Given the description of an element on the screen output the (x, y) to click on. 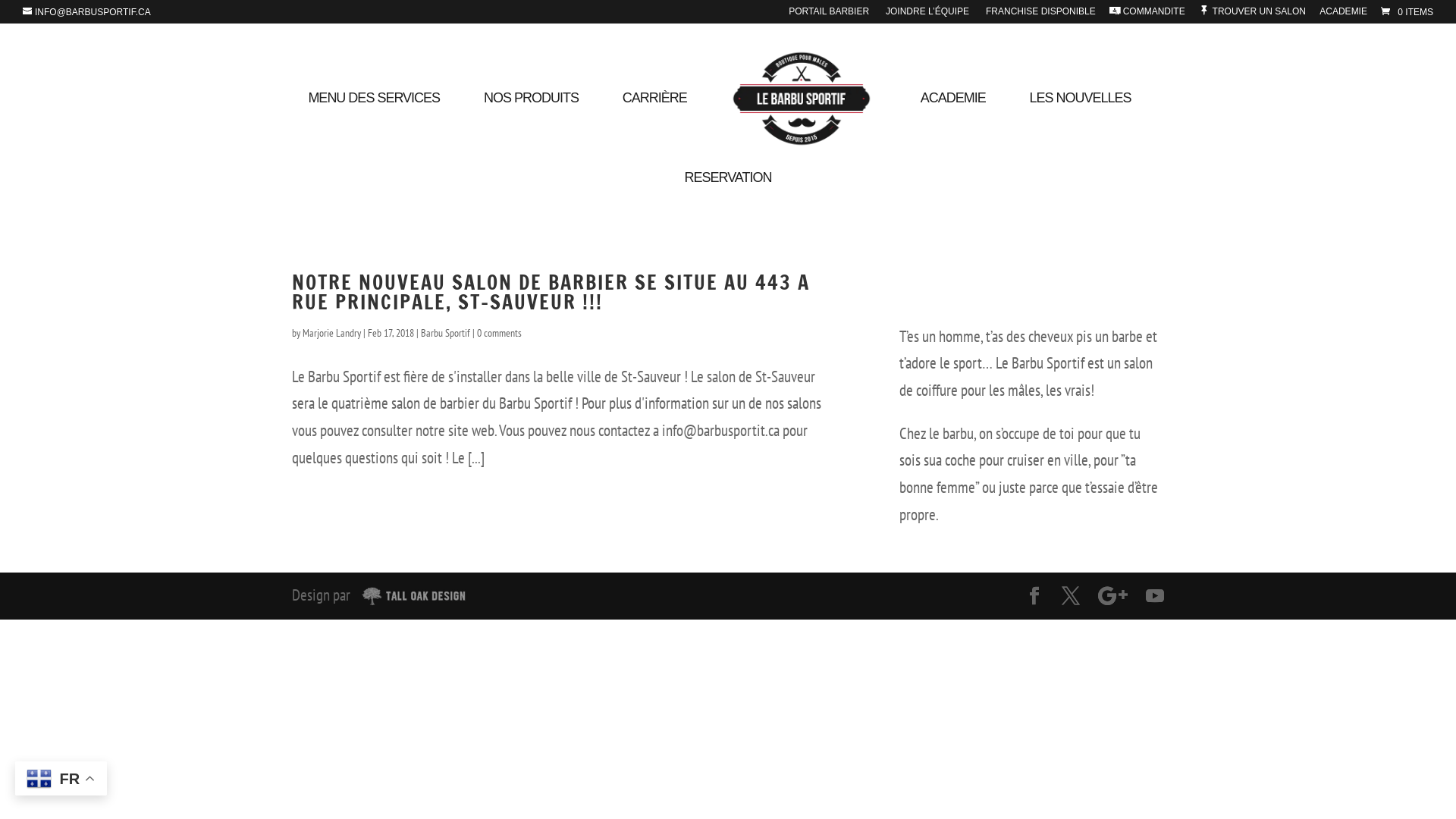
ACADEMIE Element type: text (953, 109)
TROUVER UN SALON Element type: text (1251, 14)
LES NOUVELLES Element type: text (1080, 109)
0 comments Element type: text (498, 332)
MENU DES SERVICES Element type: text (373, 109)
ACADEMIE Element type: text (1343, 14)
NOS PRODUITS Element type: text (530, 109)
INFO@BARBUSPORTIF.CA Element type: text (86, 11)
Barbu Sportif Element type: text (445, 332)
COMMANDITE Element type: text (1147, 14)
0 ITEMS Element type: text (1405, 11)
FRANCHISE DISPONIBLE Element type: text (1038, 14)
Marjorie Landry Element type: text (331, 332)
RESERVATION Element type: text (727, 189)
PORTAIL BARBIER Element type: text (828, 14)
